Given the description of an element on the screen output the (x, y) to click on. 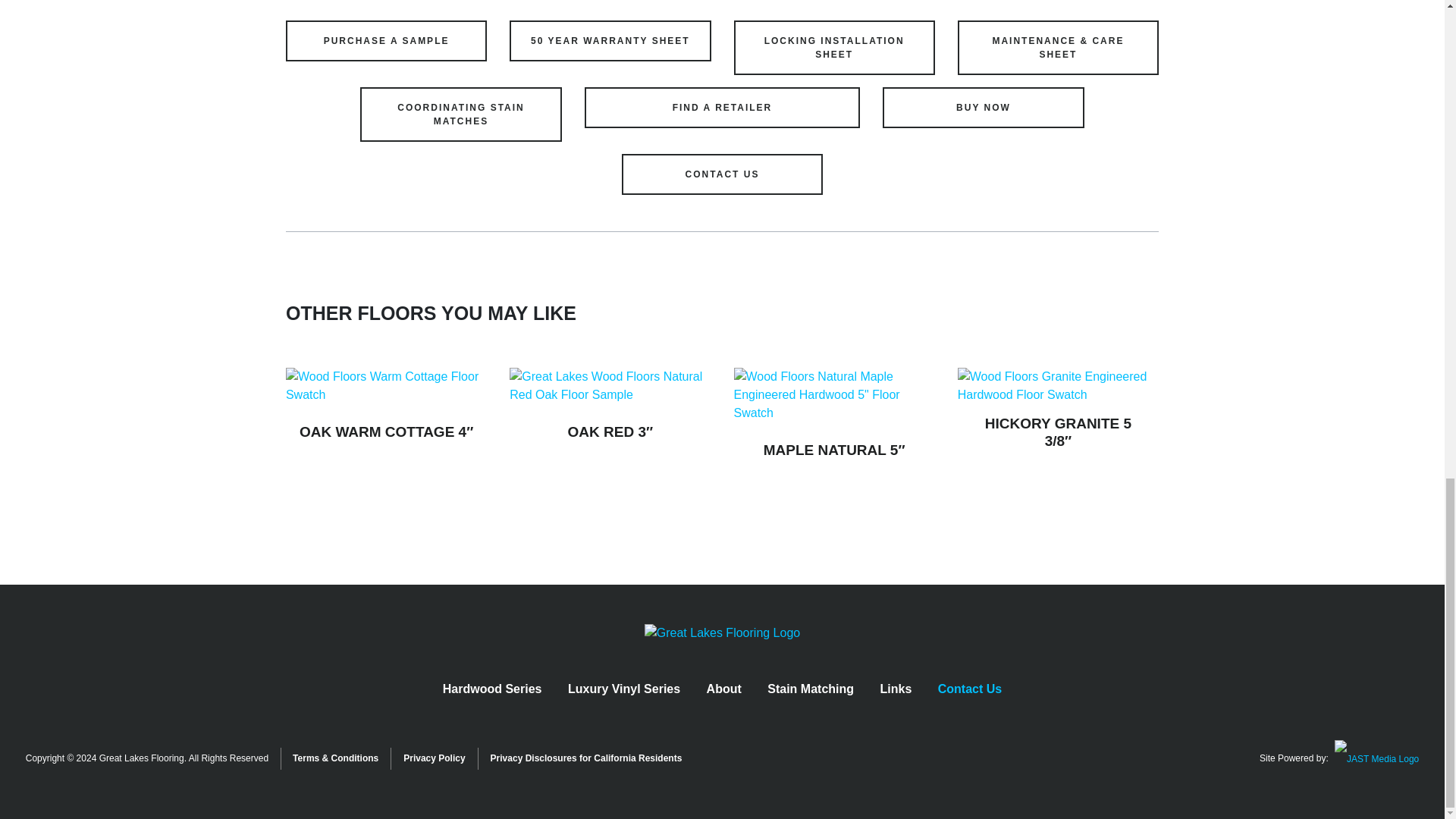
50 YEAR WARRANTY SHEET (609, 40)
BUY NOW (982, 106)
LOCKING INSTALLATION SHEET (833, 47)
FIND A RETAILER (722, 106)
PURCHASE A SAMPLE (385, 40)
COORDINATING STAIN MATCHES (459, 113)
CONTACT US (721, 173)
